Given the description of an element on the screen output the (x, y) to click on. 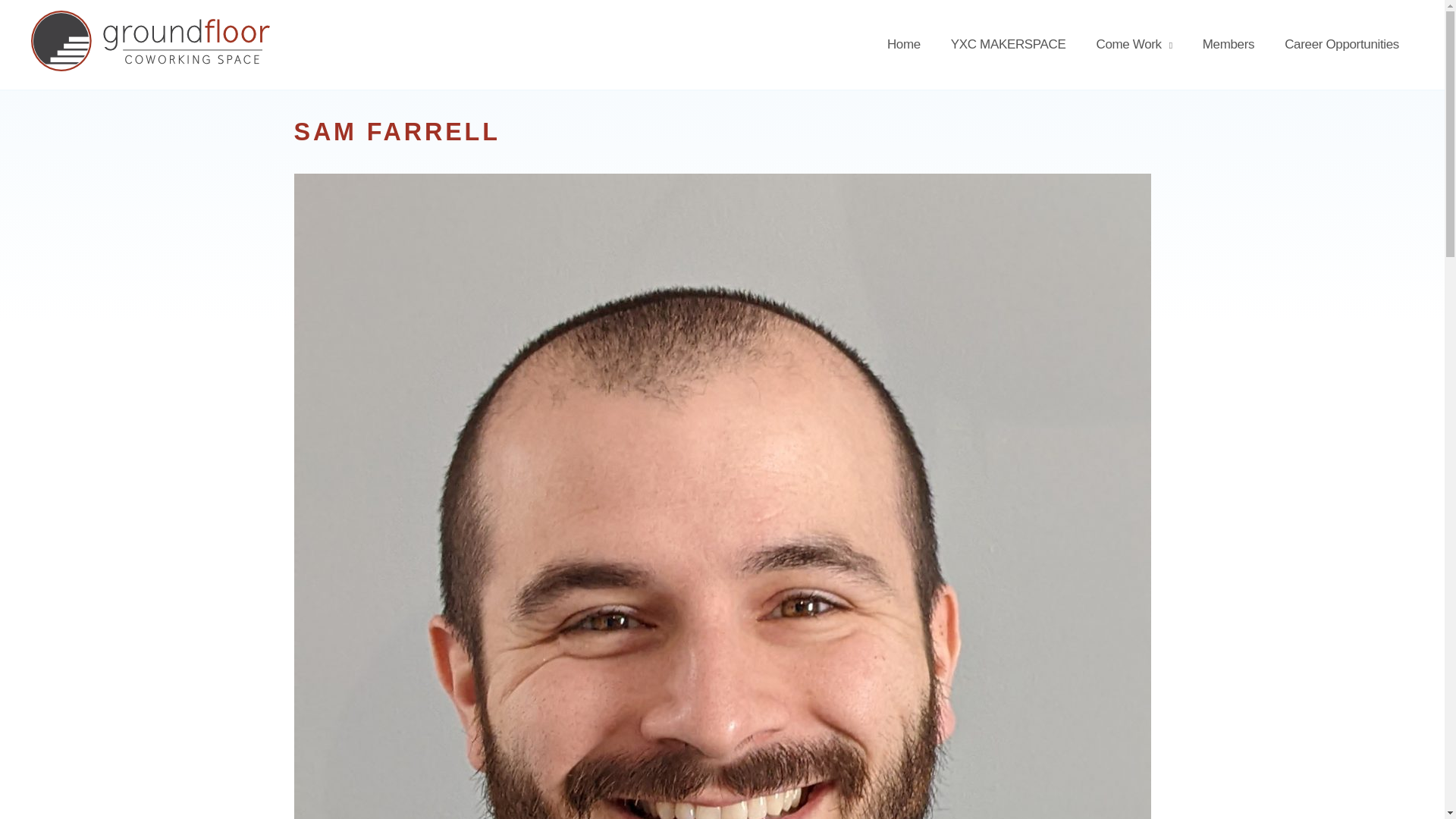
Ground Floor Cowork (140, 44)
YXC MAKERSPACE (1008, 44)
Career Opportunities (1341, 44)
Members (1228, 44)
Come Work (1133, 44)
Home (904, 44)
